Given the description of an element on the screen output the (x, y) to click on. 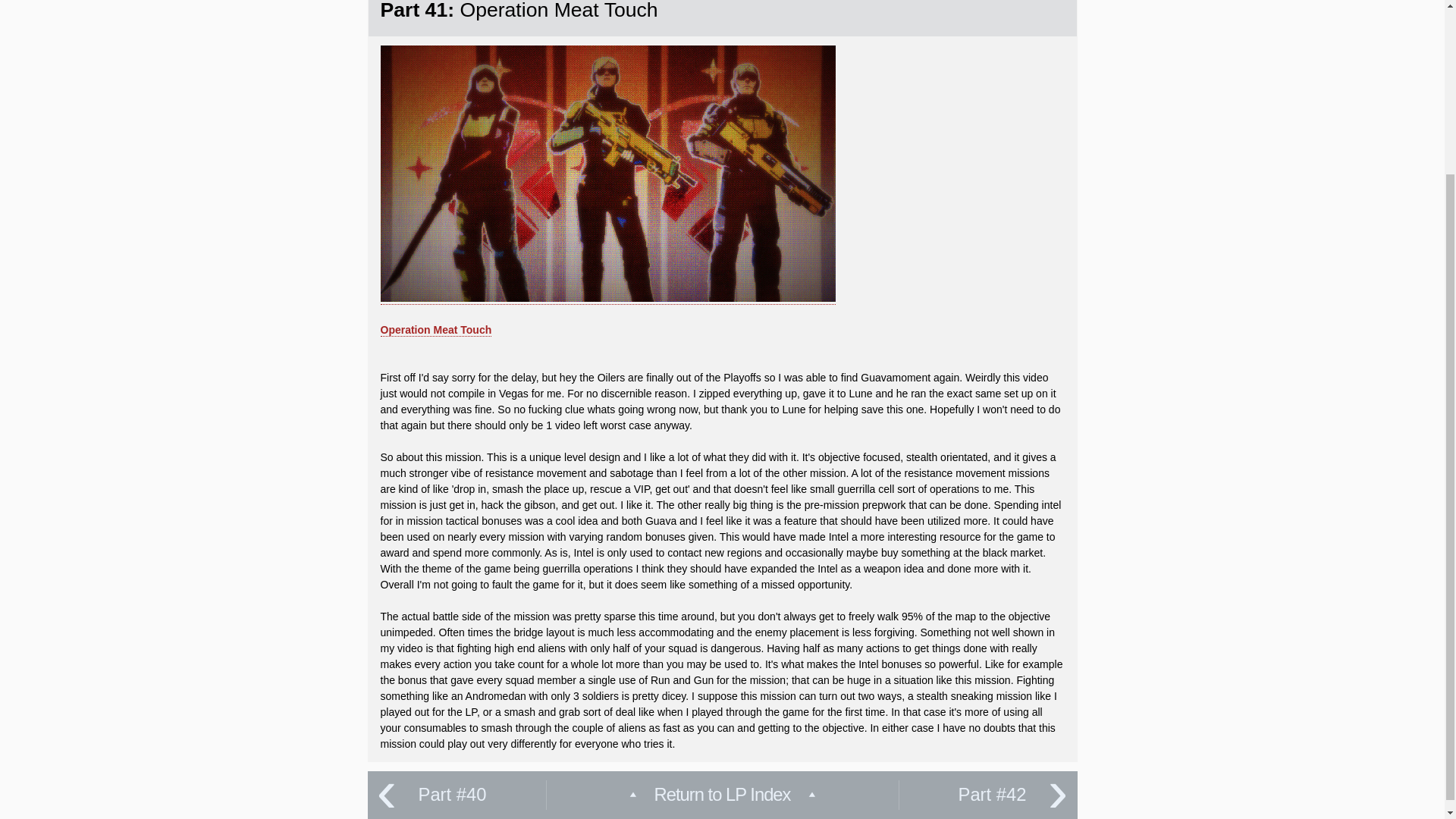
Operation Meat Touch (436, 329)
